Given the description of an element on the screen output the (x, y) to click on. 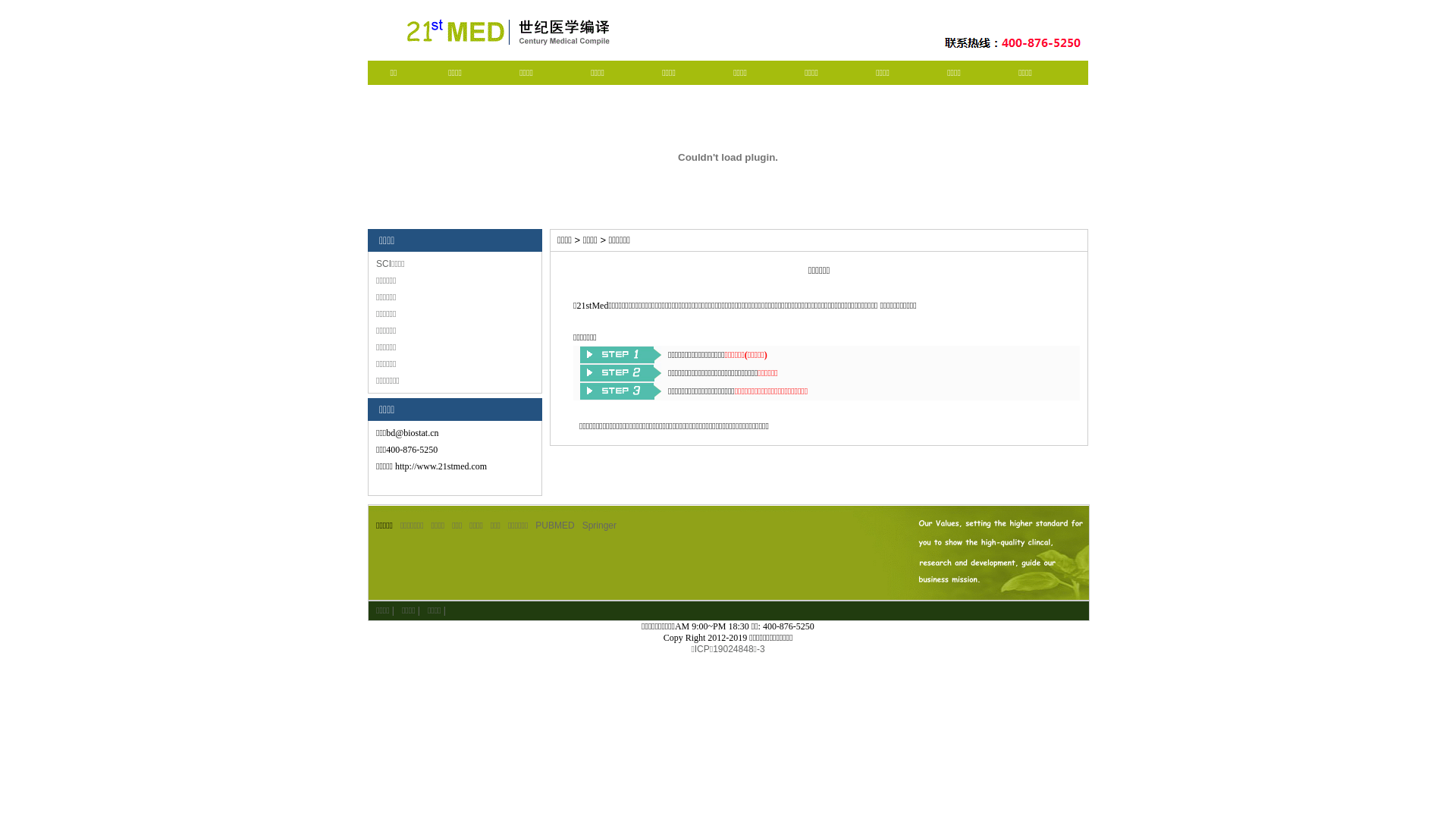
PUBMED Element type: text (554, 525)
Springer Element type: text (599, 525)
